Given the description of an element on the screen output the (x, y) to click on. 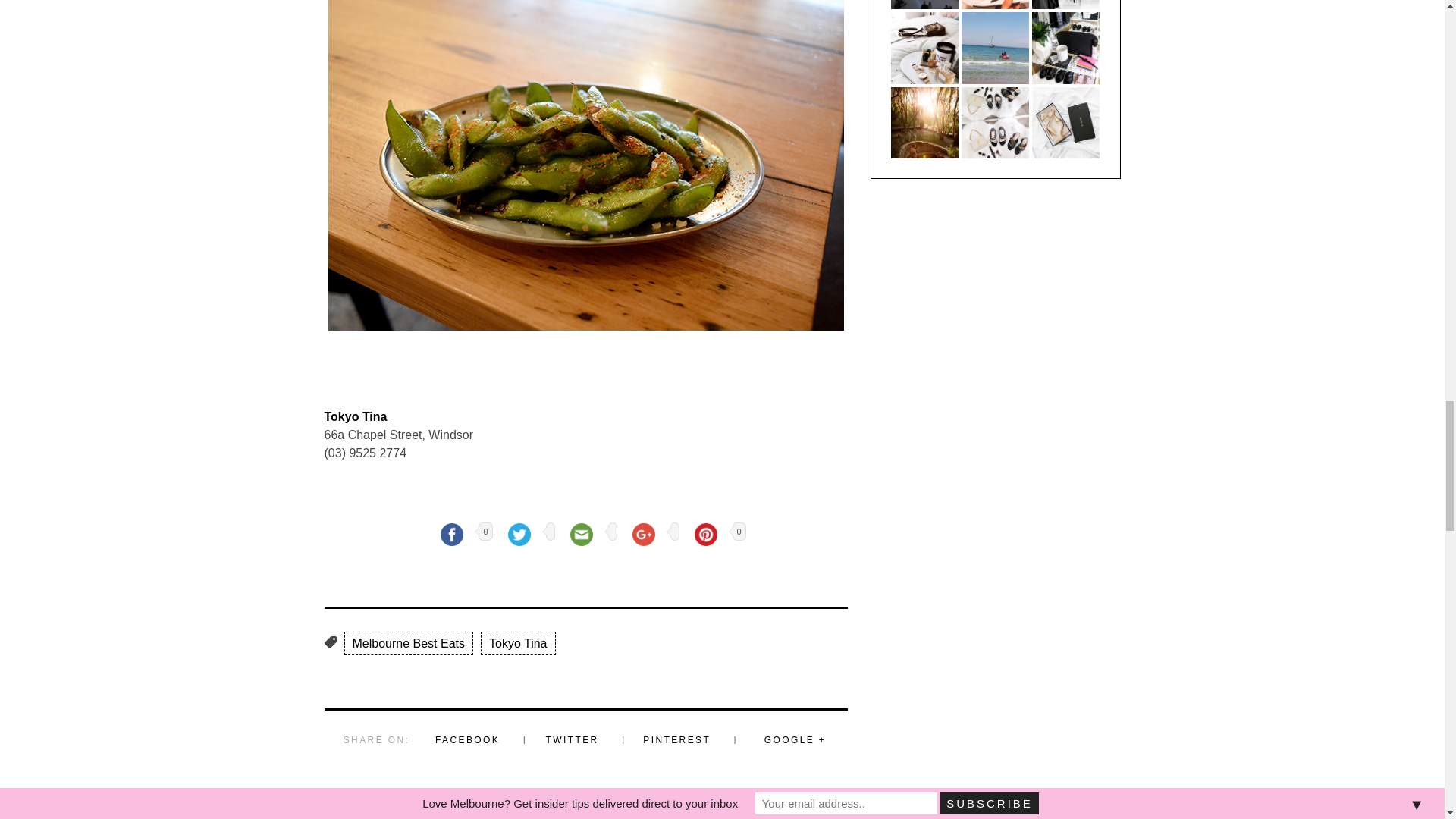
email (581, 534)
google (643, 534)
twitter (519, 534)
pinterest (705, 534)
facebook (452, 534)
